Given the description of an element on the screen output the (x, y) to click on. 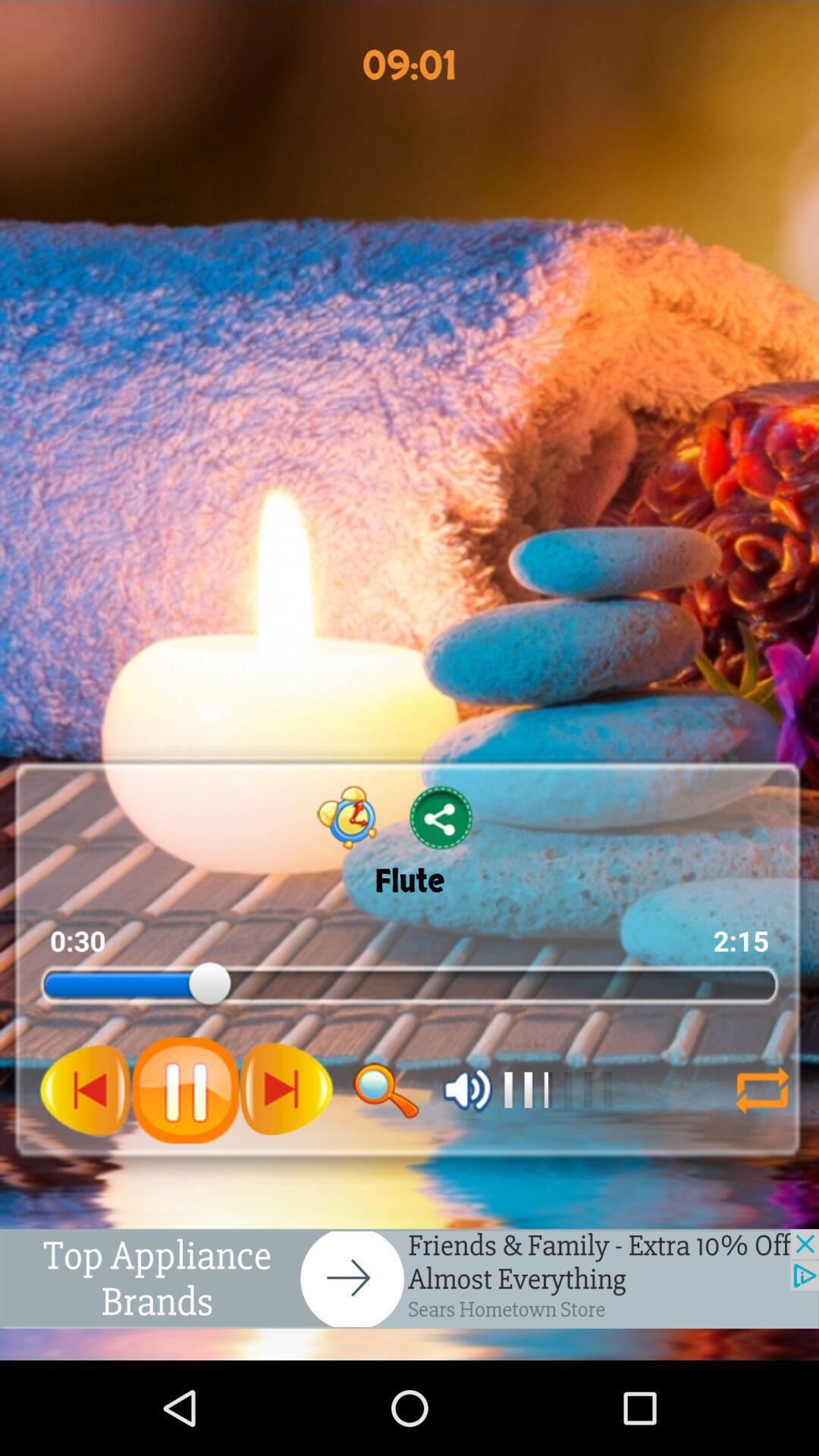
go to share button (441, 817)
